Given the description of an element on the screen output the (x, y) to click on. 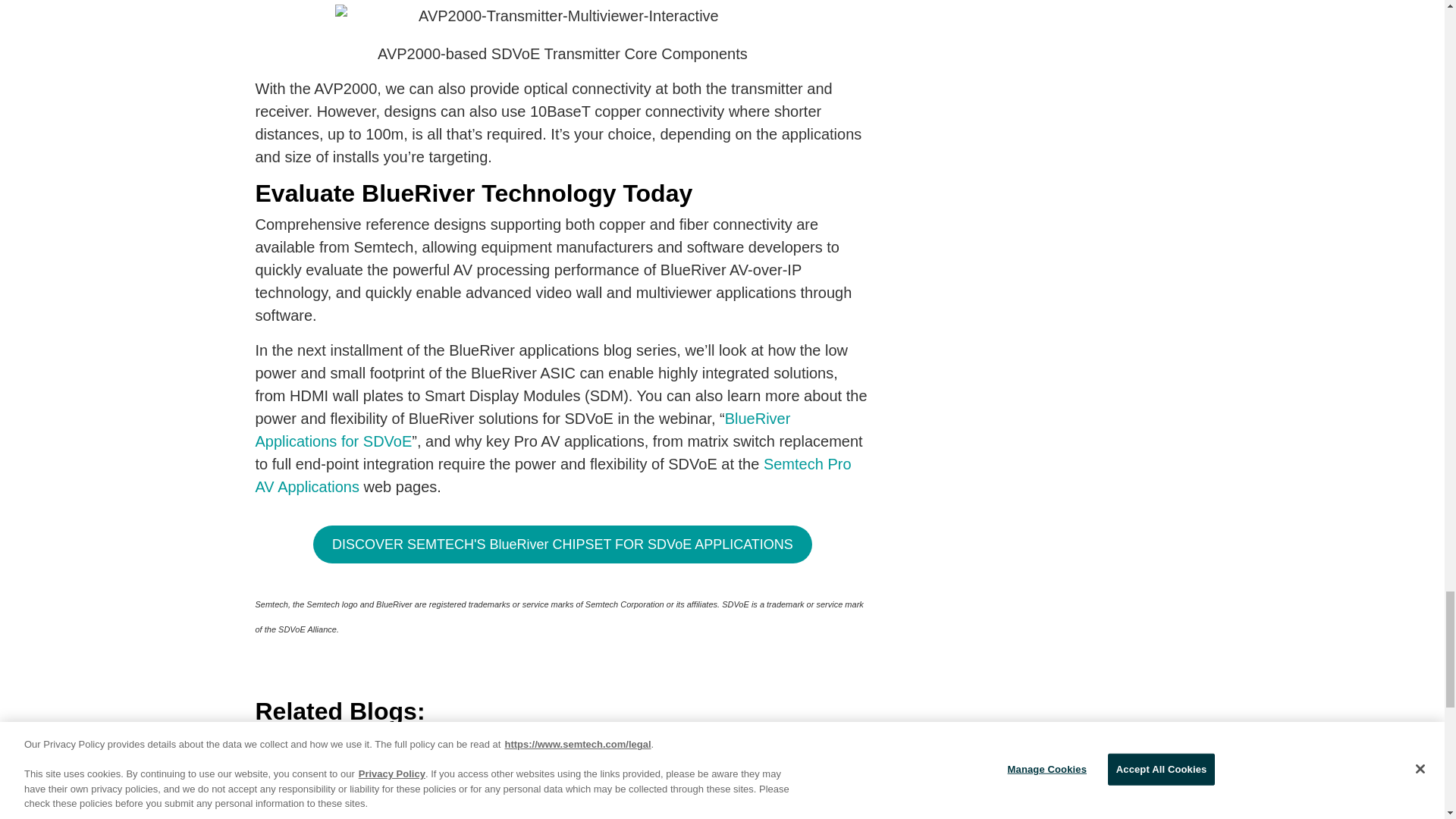
DISCOVER SEMTECH'S BlueRiver CHIPSET FOR SDVoE APPLICATIONS (562, 544)
